Given the description of an element on the screen output the (x, y) to click on. 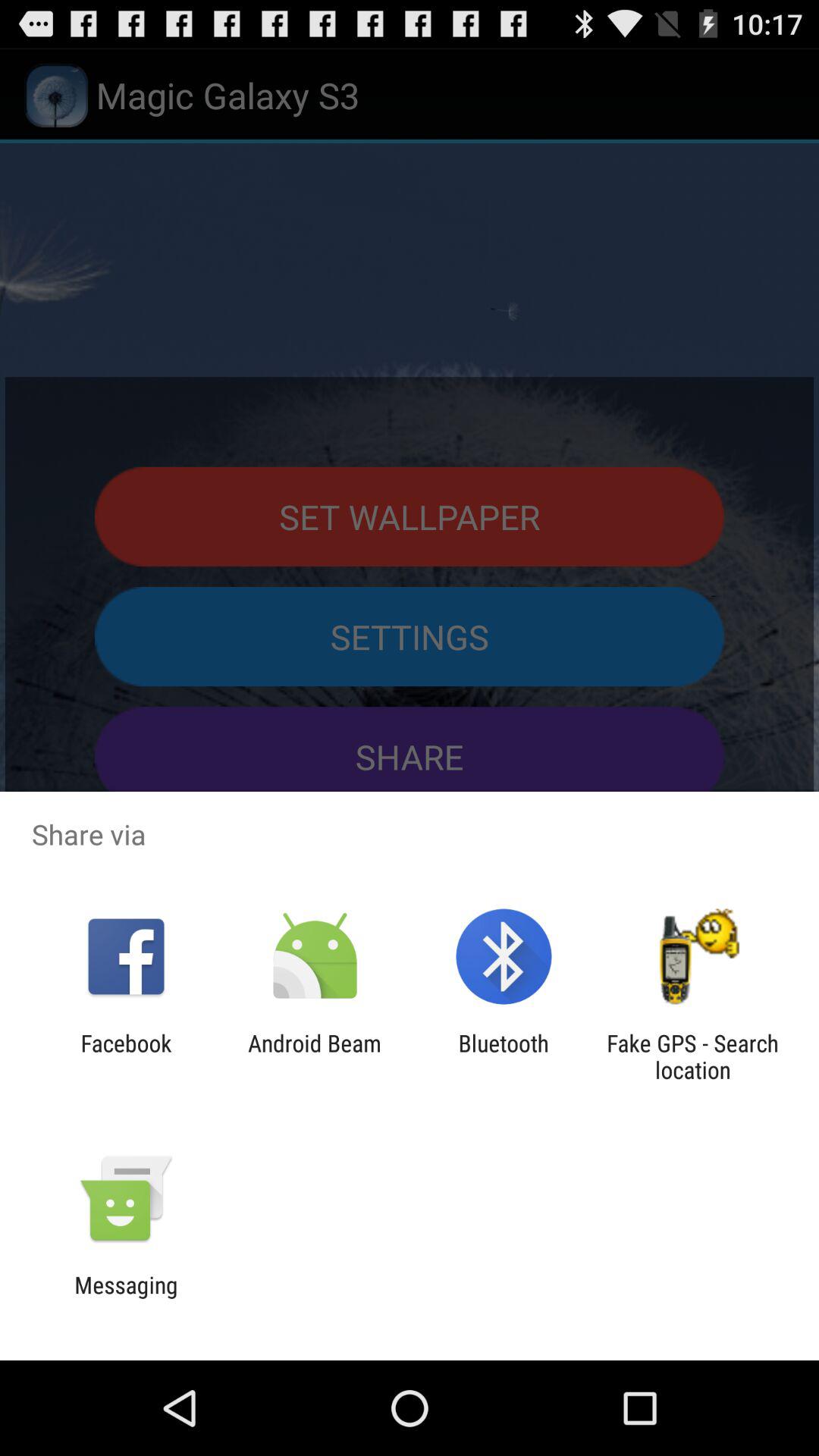
click icon next to facebook app (314, 1056)
